Given the description of an element on the screen output the (x, y) to click on. 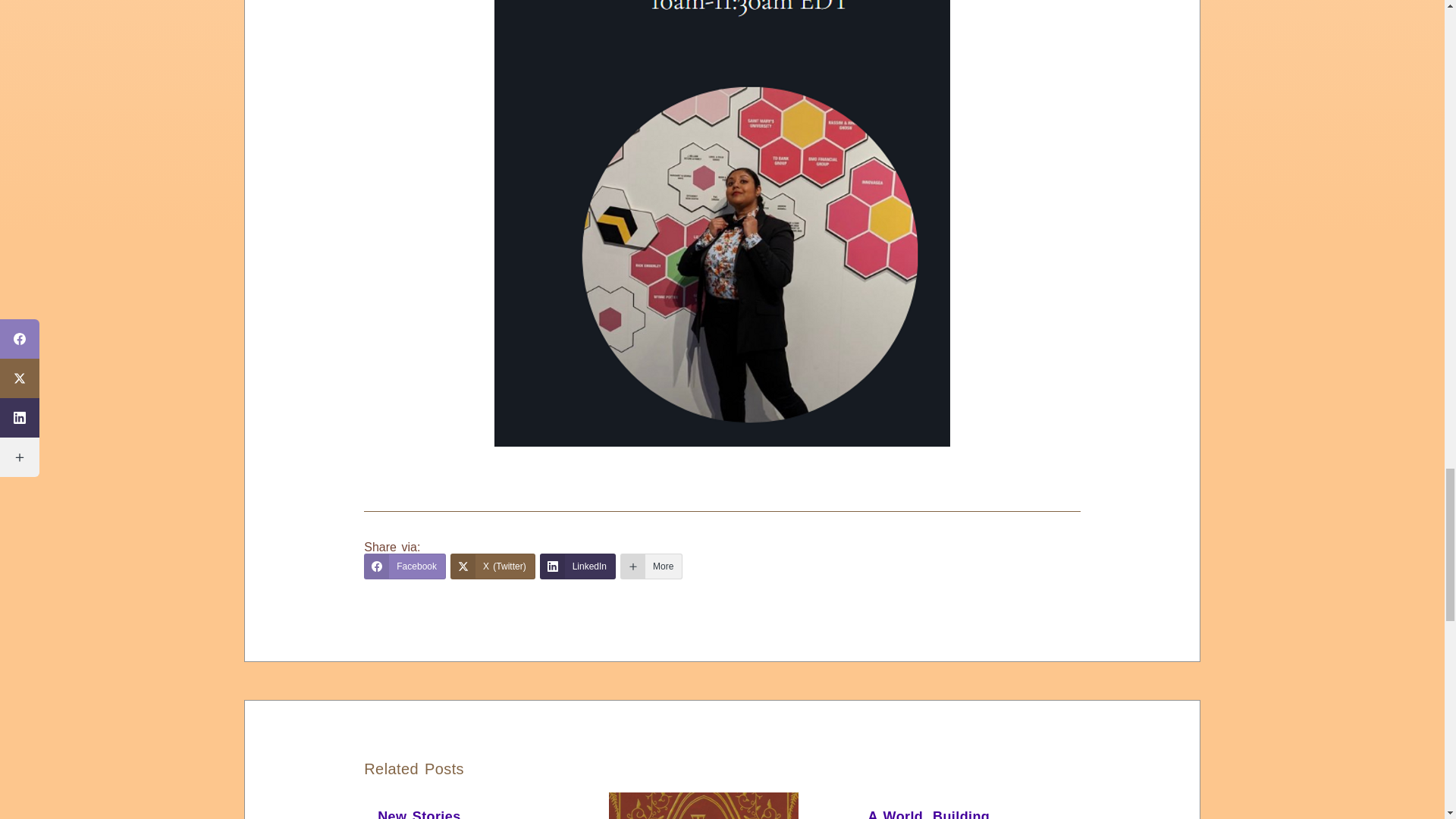
New Stories (418, 814)
More (651, 566)
A World, Building (928, 814)
Facebook (404, 566)
LinkedIn (577, 566)
